Given the description of an element on the screen output the (x, y) to click on. 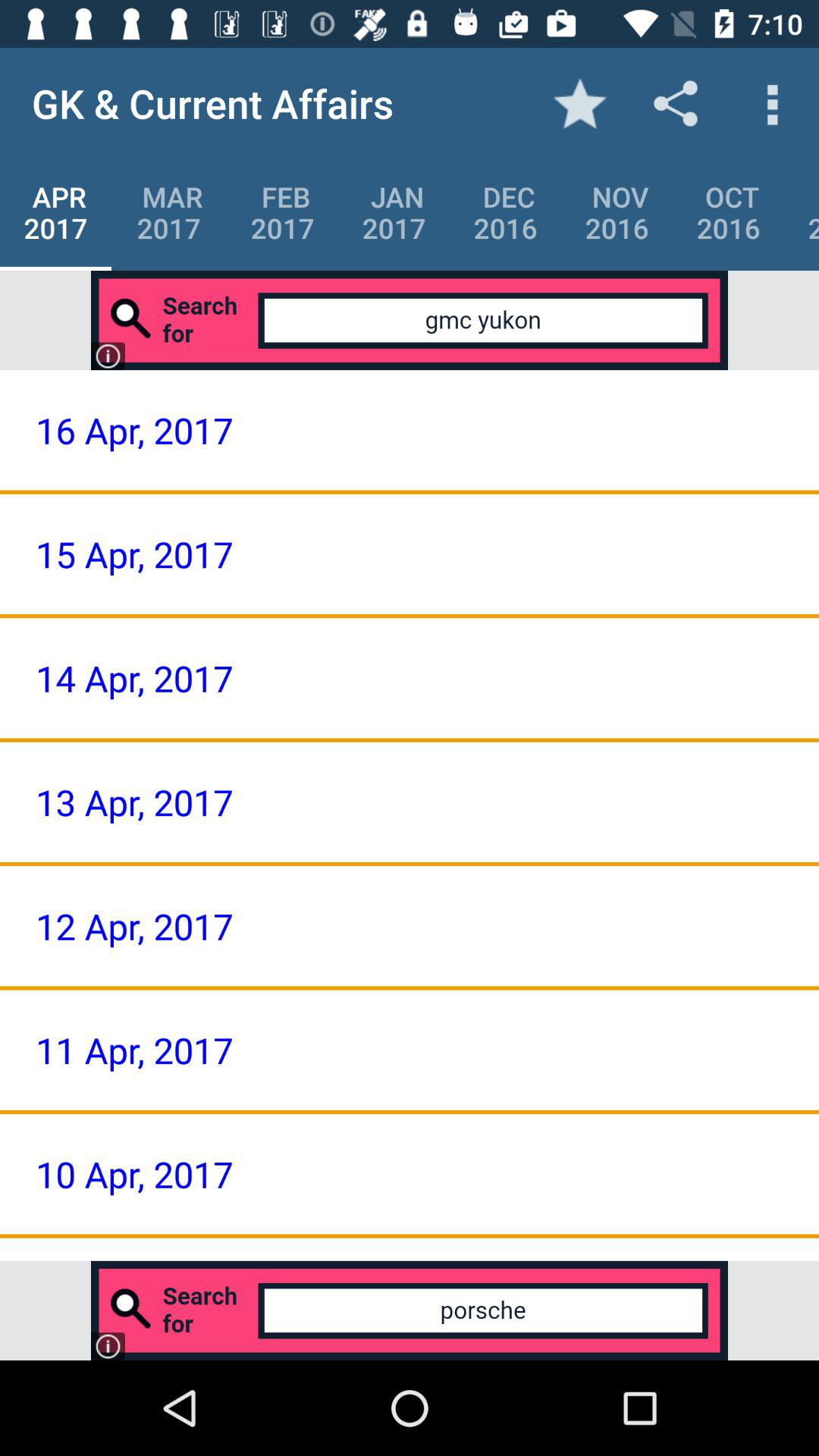
turn off the icon next to  jan
2017 icon (282, 212)
